Given the description of an element on the screen output the (x, y) to click on. 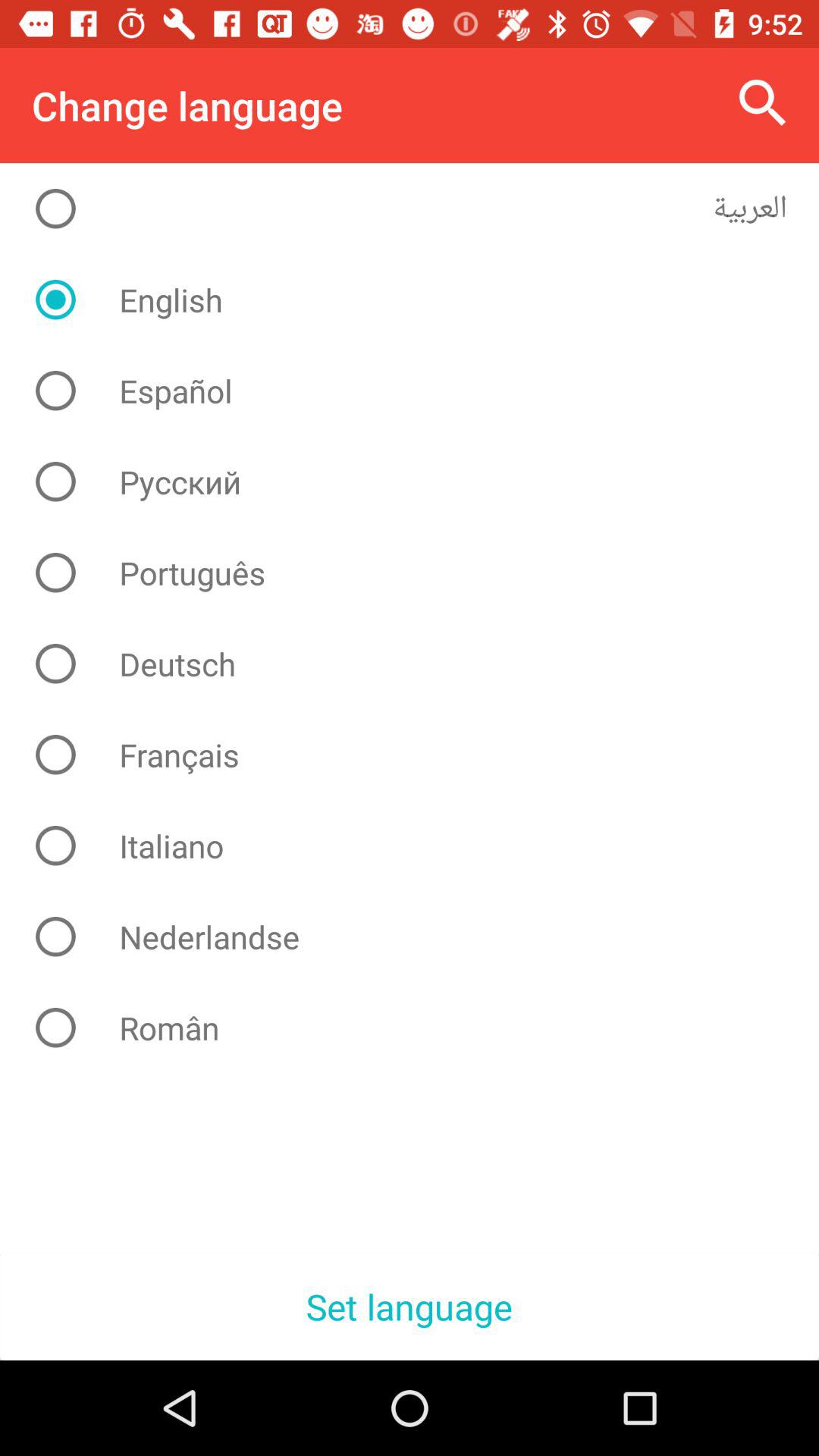
tap the icon above set language icon (421, 1027)
